Given the description of an element on the screen output the (x, y) to click on. 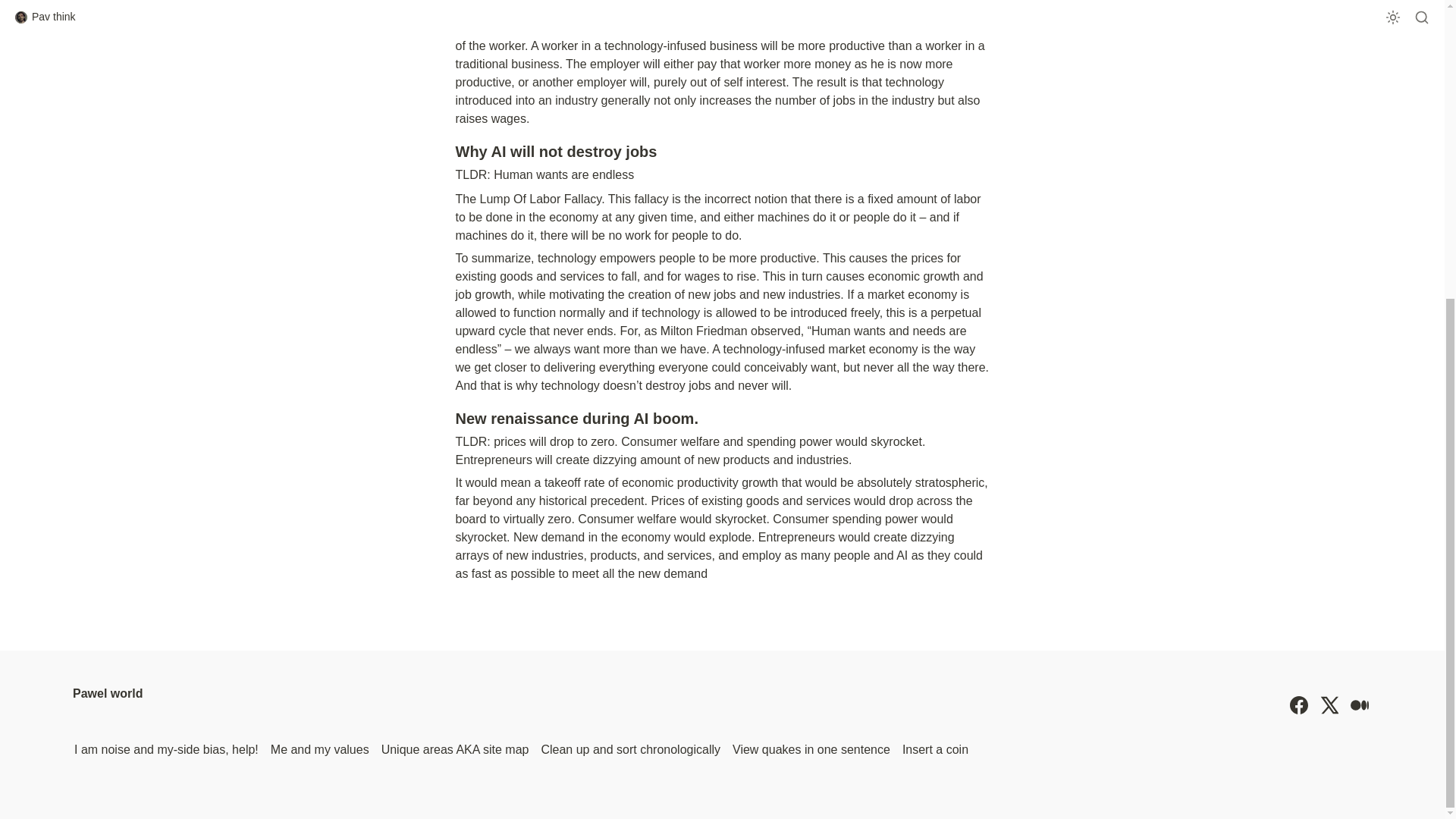
View quakes in one sentence (810, 750)
Pawel world (107, 705)
Medium (1359, 705)
Facebook (1298, 705)
Me and my values (320, 750)
Medium (1359, 705)
Insert a coin (935, 750)
I am noise and my-side bias, help! (166, 750)
Facebook (1298, 705)
Unique areas AKA site map (455, 750)
Clean up and sort chronologically (630, 750)
X (1329, 705)
X (1329, 705)
